Given the description of an element on the screen output the (x, y) to click on. 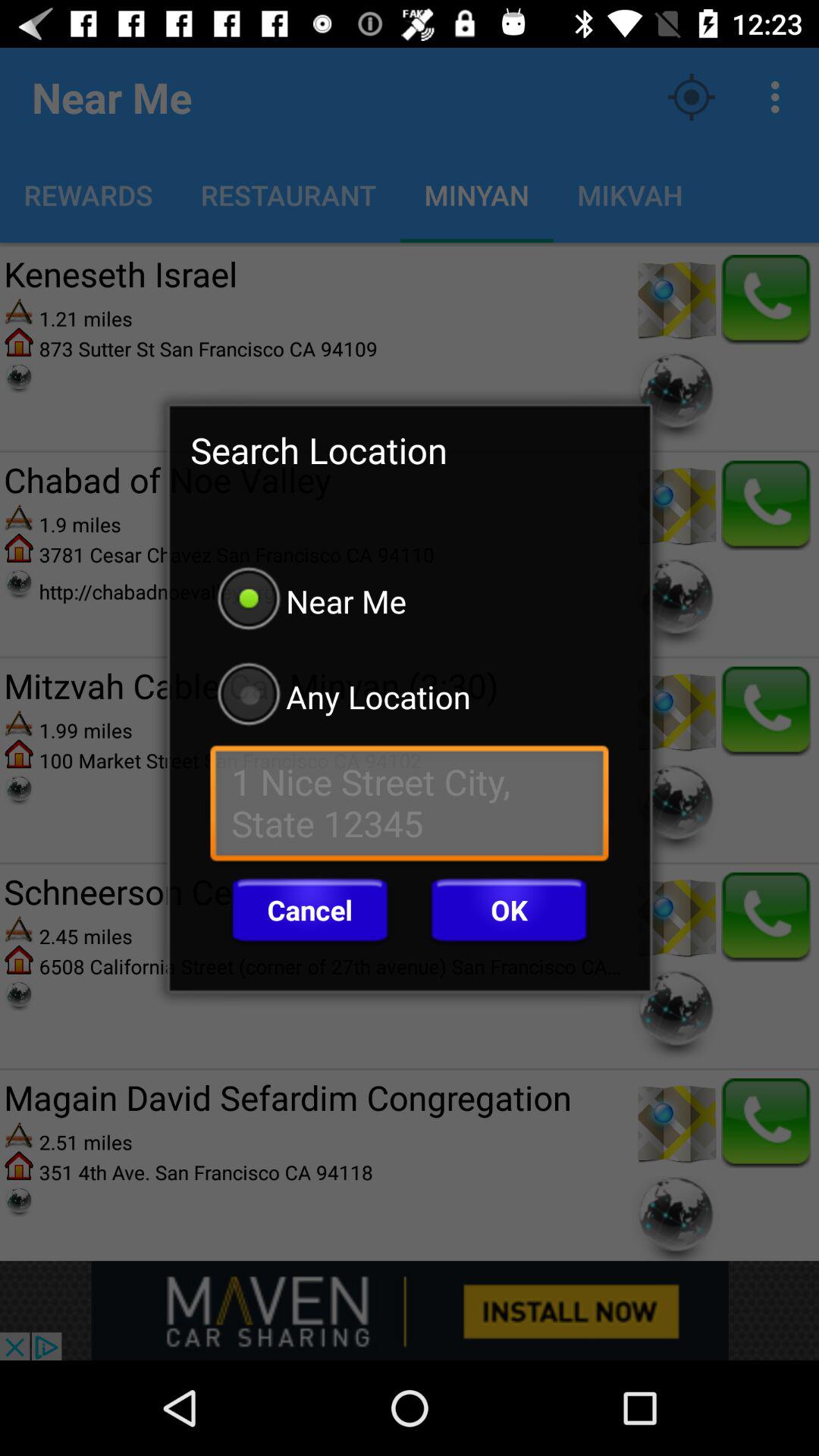
launch button to the right of the cancel button (508, 909)
